Given the description of an element on the screen output the (x, y) to click on. 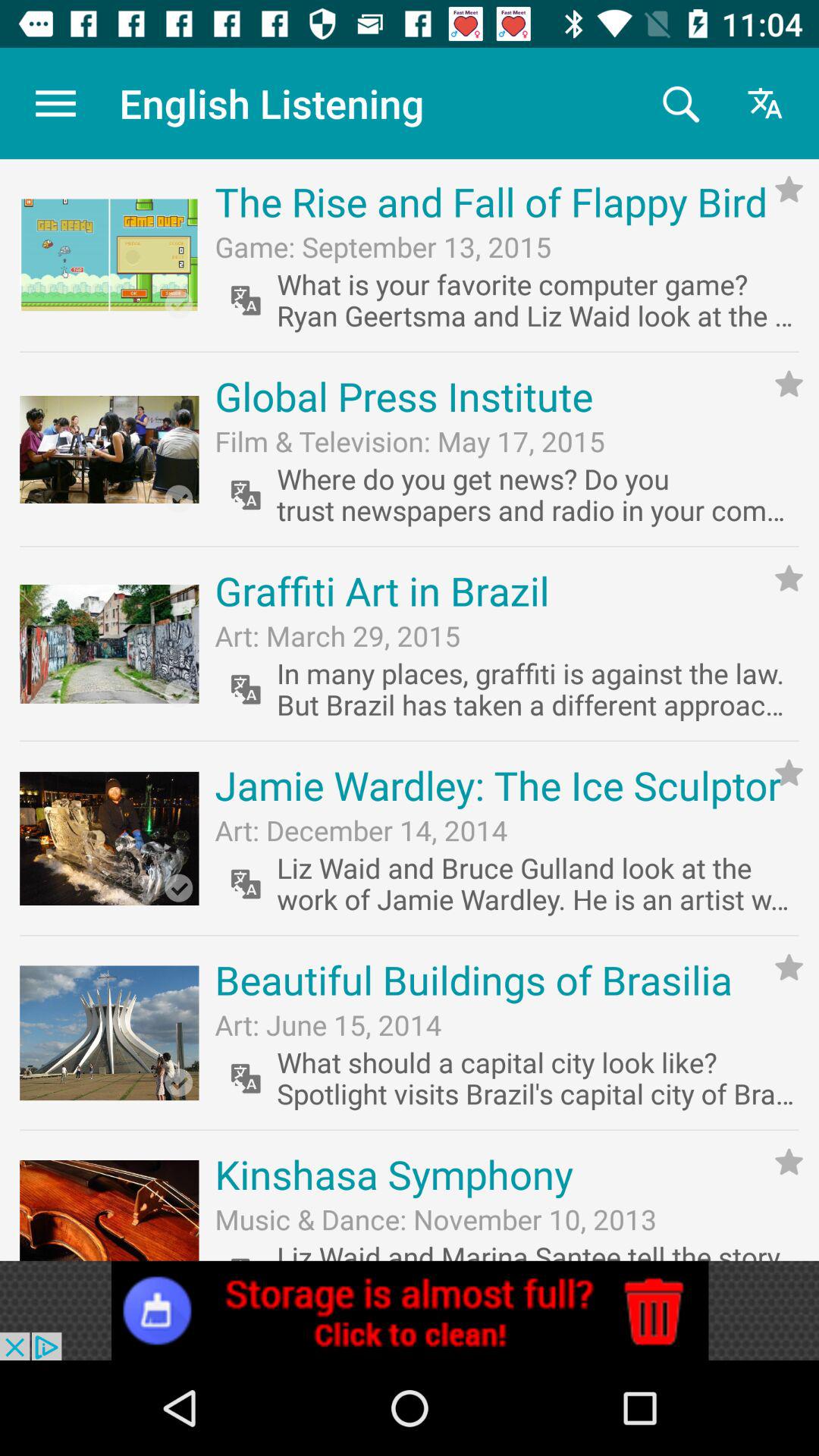
open menu (55, 103)
